Given the description of an element on the screen output the (x, y) to click on. 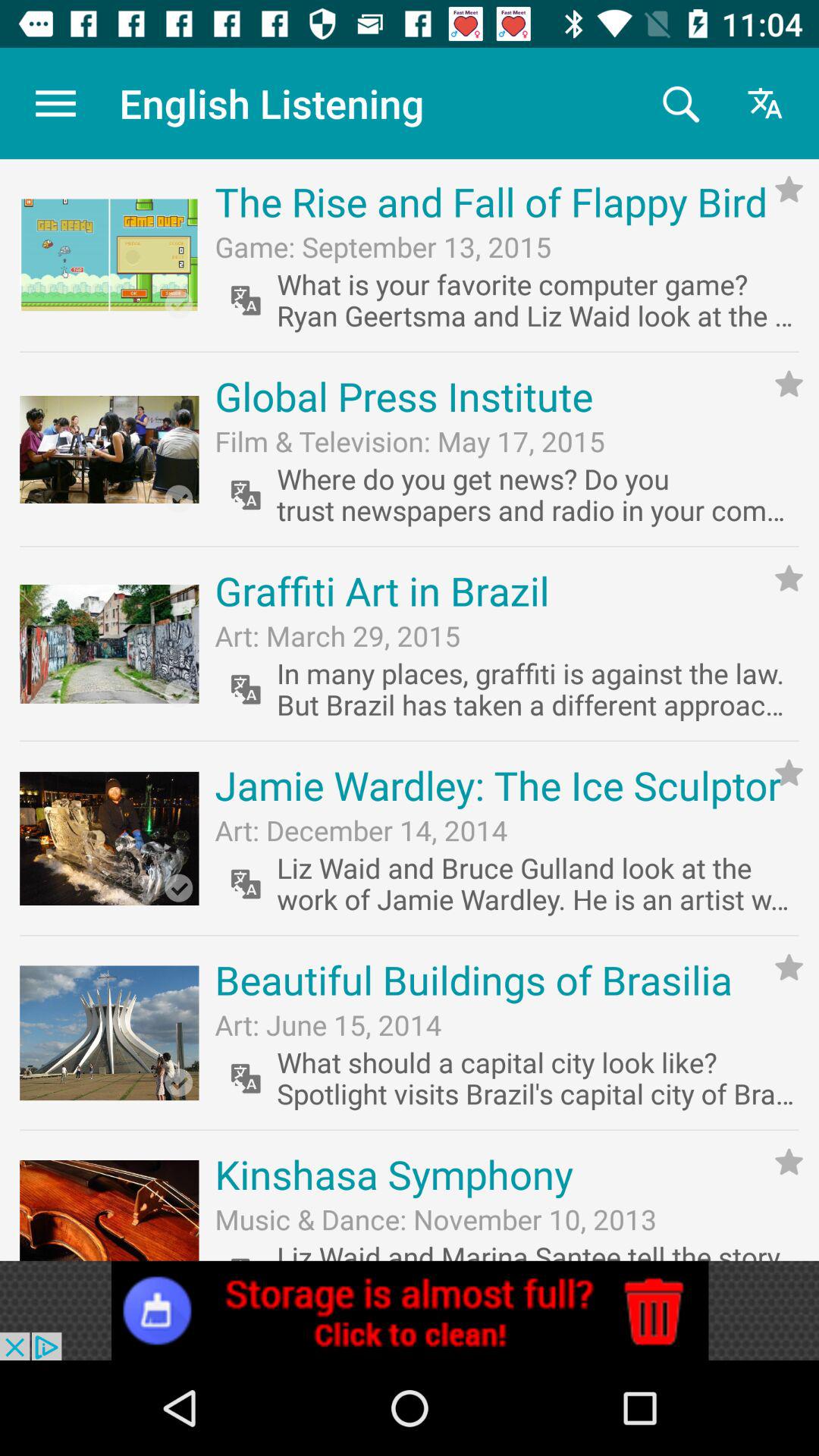
open menu (55, 103)
